Given the description of an element on the screen output the (x, y) to click on. 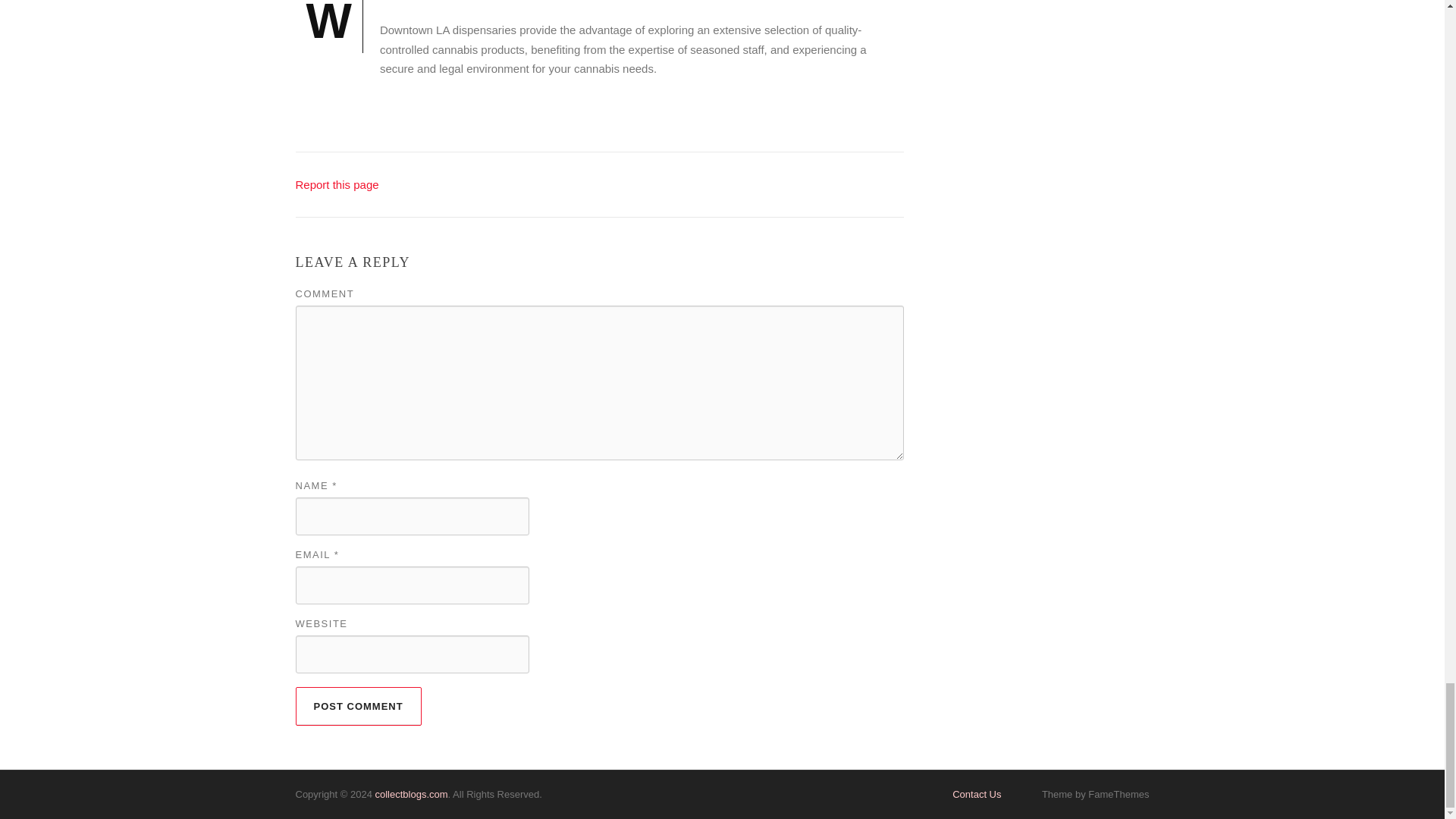
Report this page (336, 184)
Post Comment (358, 706)
Post Comment (358, 706)
